Given the description of an element on the screen output the (x, y) to click on. 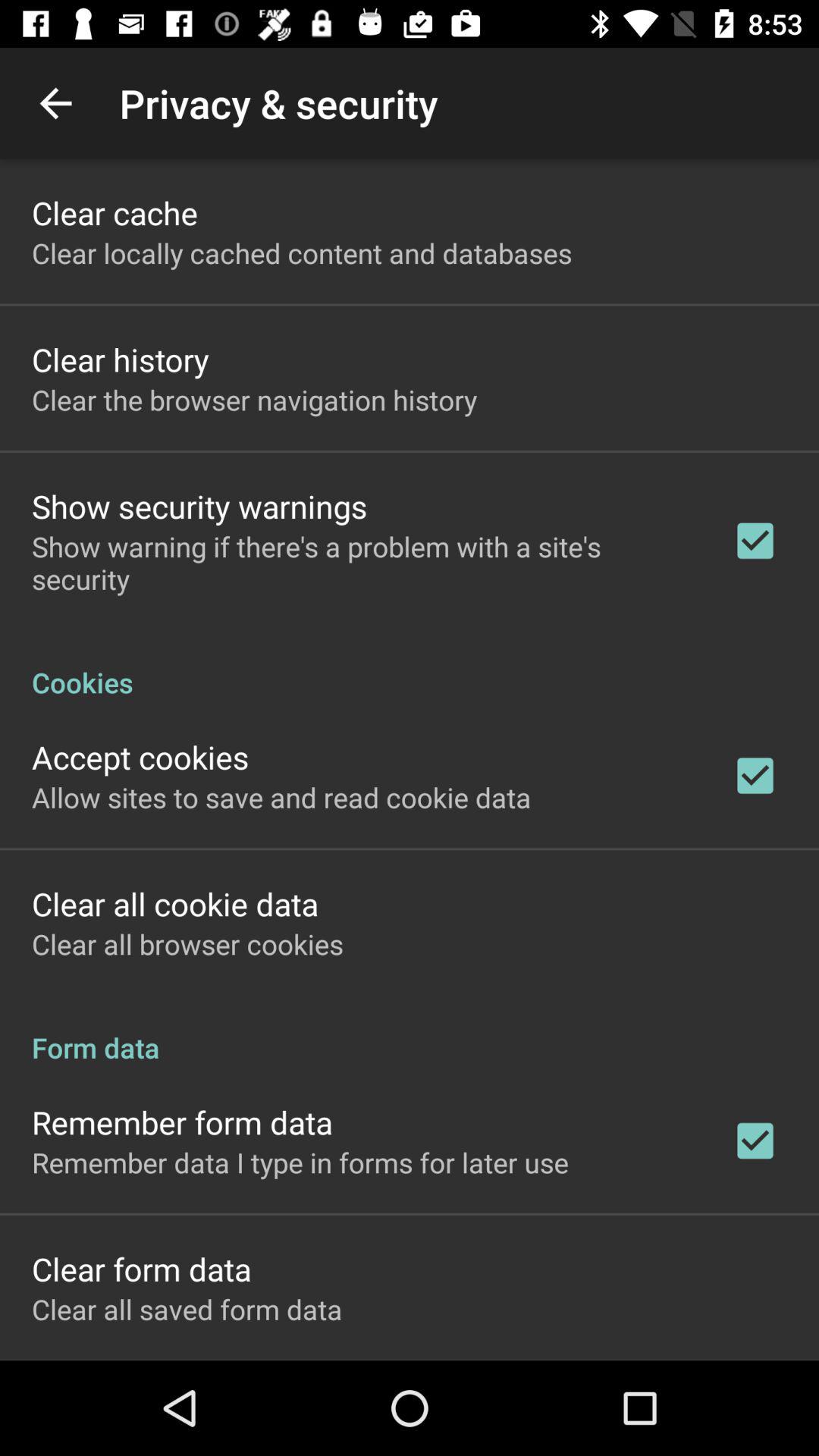
open app above allow sites to icon (140, 756)
